Given the description of an element on the screen output the (x, y) to click on. 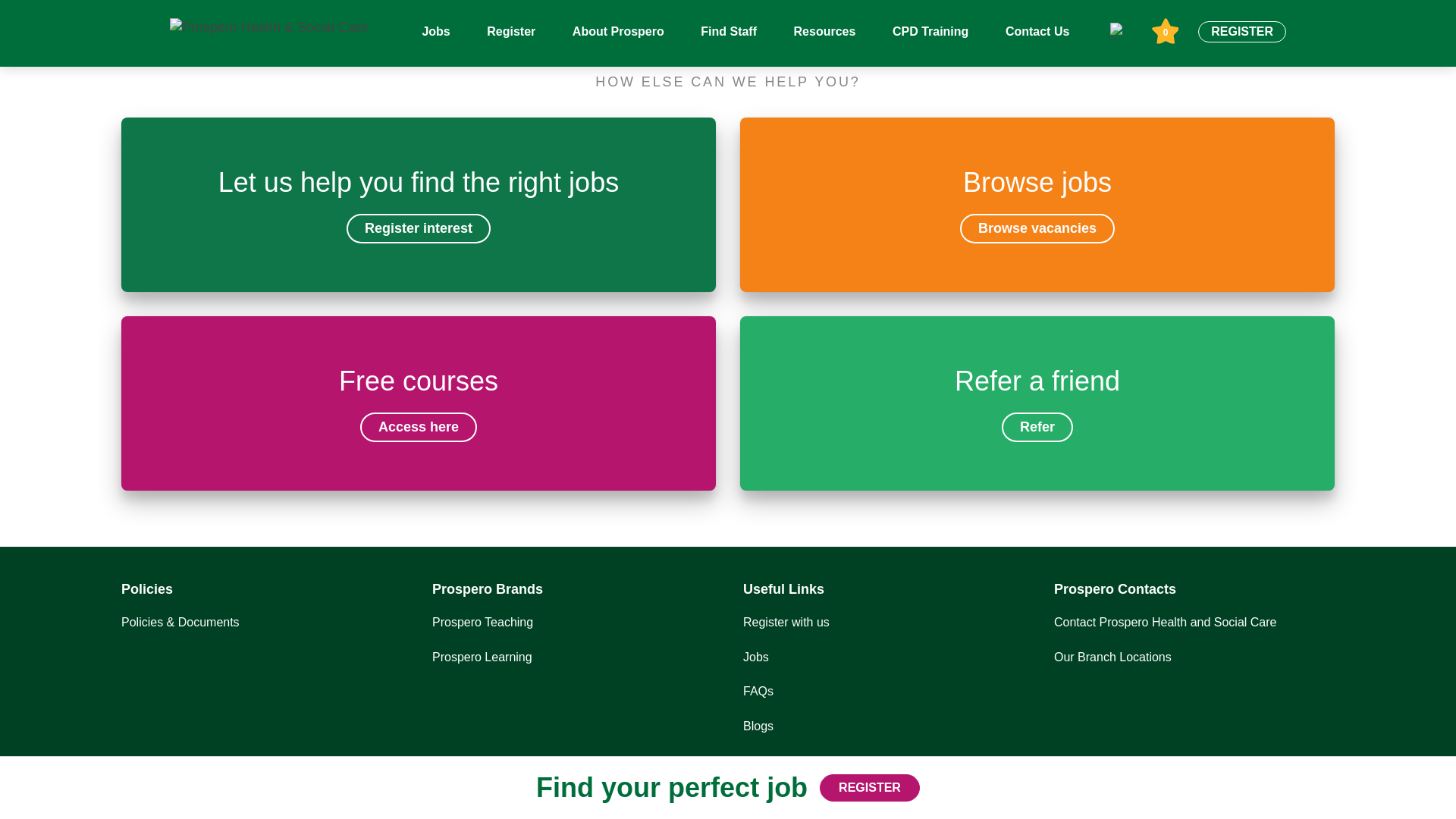
Our Branch Locations (418, 204)
Blogs (418, 403)
FAQs (1113, 657)
Register with us (1037, 403)
Jobs (757, 726)
Contact Prospero Health and Social Care (757, 691)
Prospero Teaching (785, 622)
Prospero Learning (755, 657)
